Given the description of an element on the screen output the (x, y) to click on. 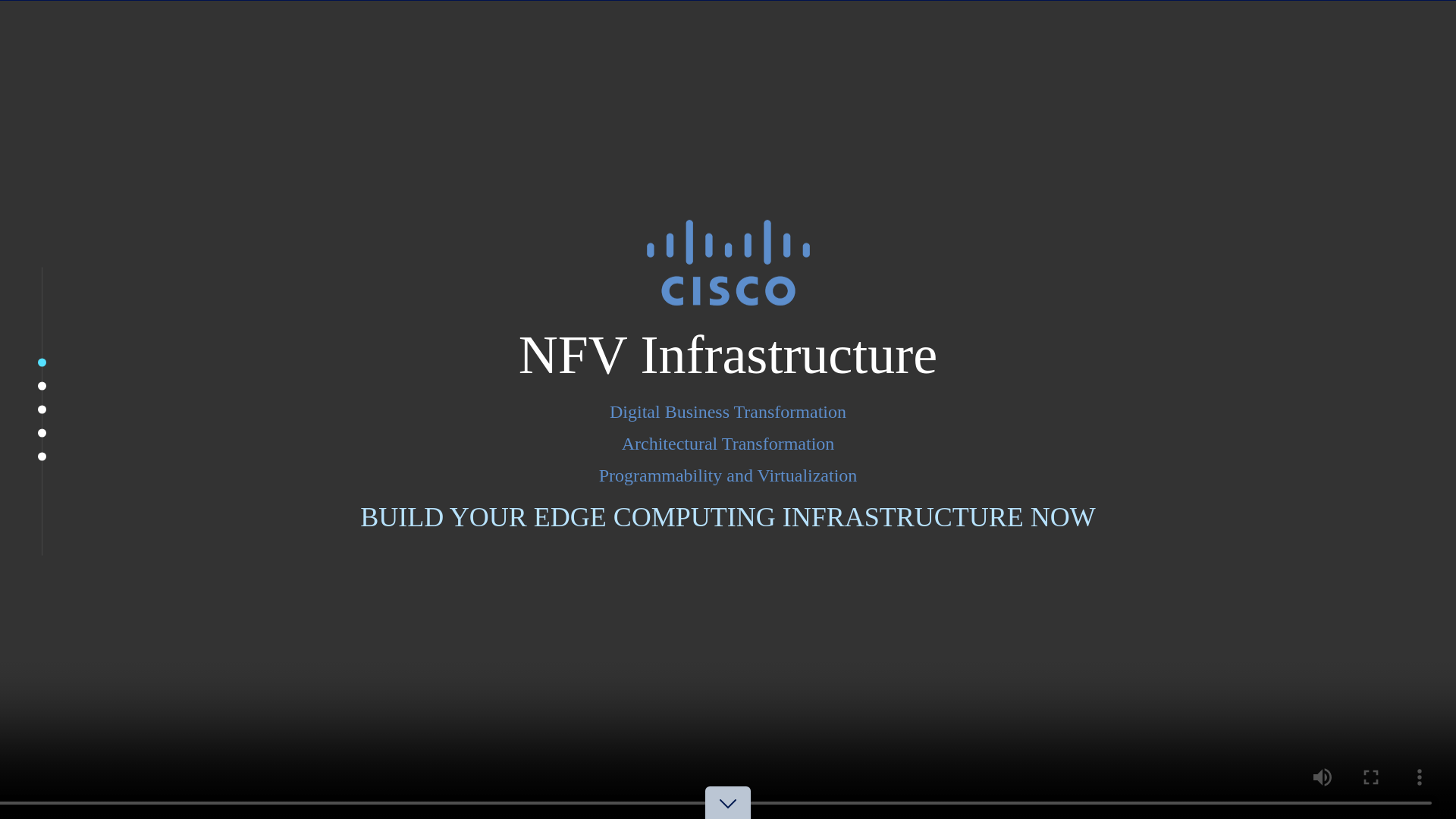
Scroll Down (727, 818)
